Given the description of an element on the screen output the (x, y) to click on. 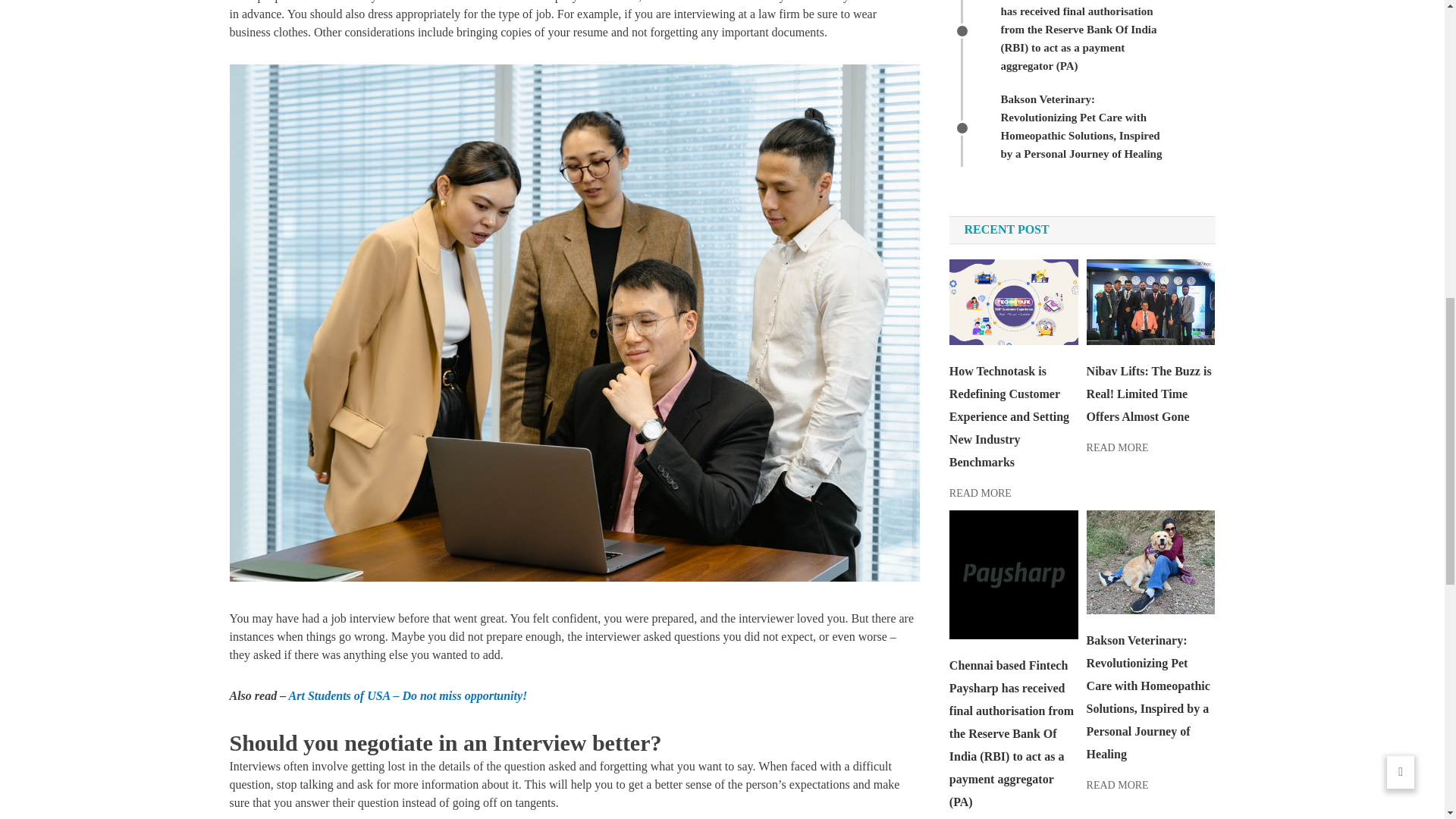
READ MORE (1117, 447)
READ MORE (980, 493)
